Given the description of an element on the screen output the (x, y) to click on. 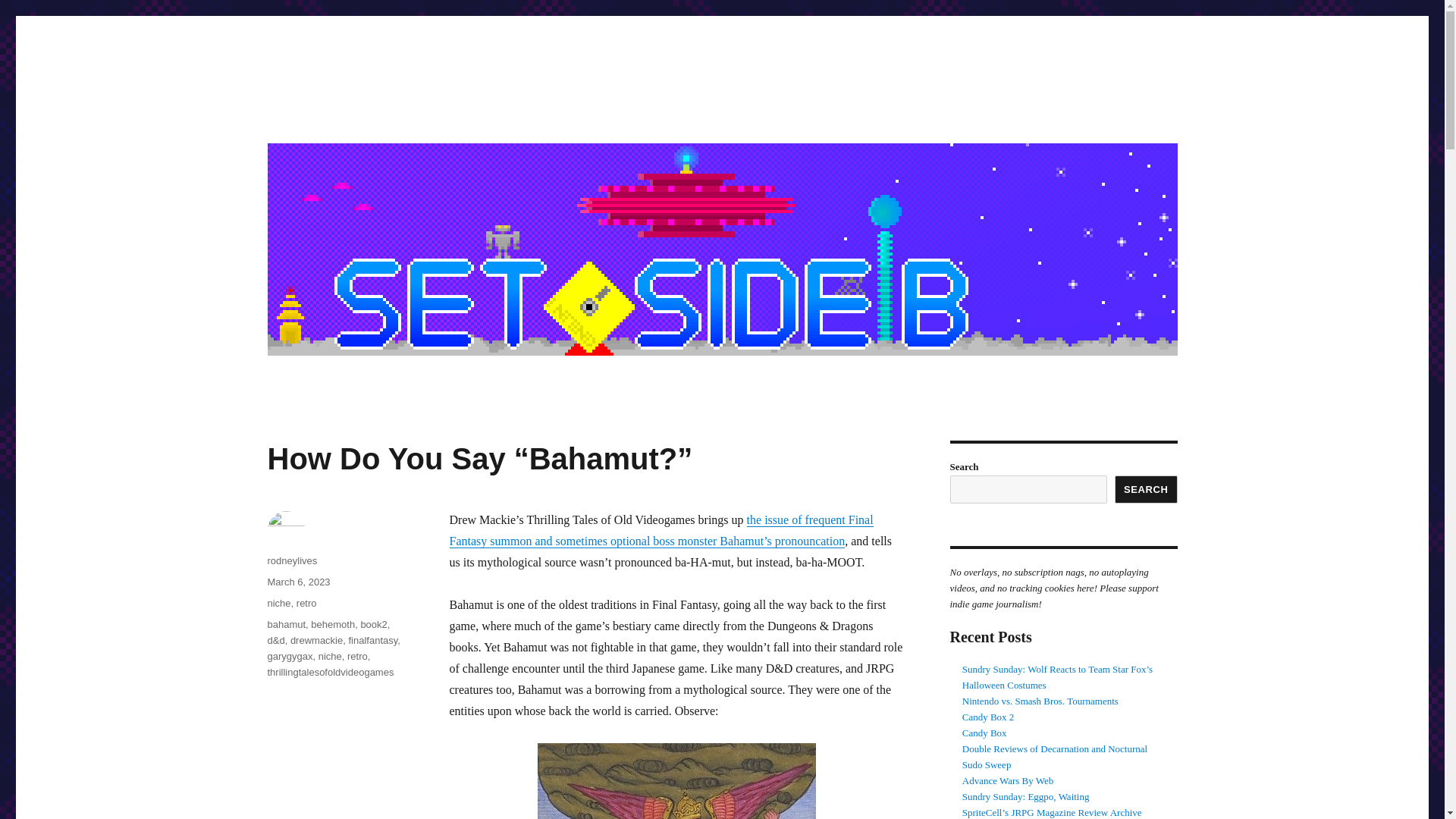
bahamut (285, 624)
retro (357, 655)
retro (307, 603)
book2 (373, 624)
garygygax (289, 655)
Set Side B (318, 114)
behemoth (333, 624)
rodneylives (291, 560)
niche (330, 655)
thrillingtalesofoldvideogames (329, 672)
finalfantasy (372, 640)
niche (277, 603)
drewmackie (315, 640)
March 6, 2023 (298, 582)
